Given the description of an element on the screen output the (x, y) to click on. 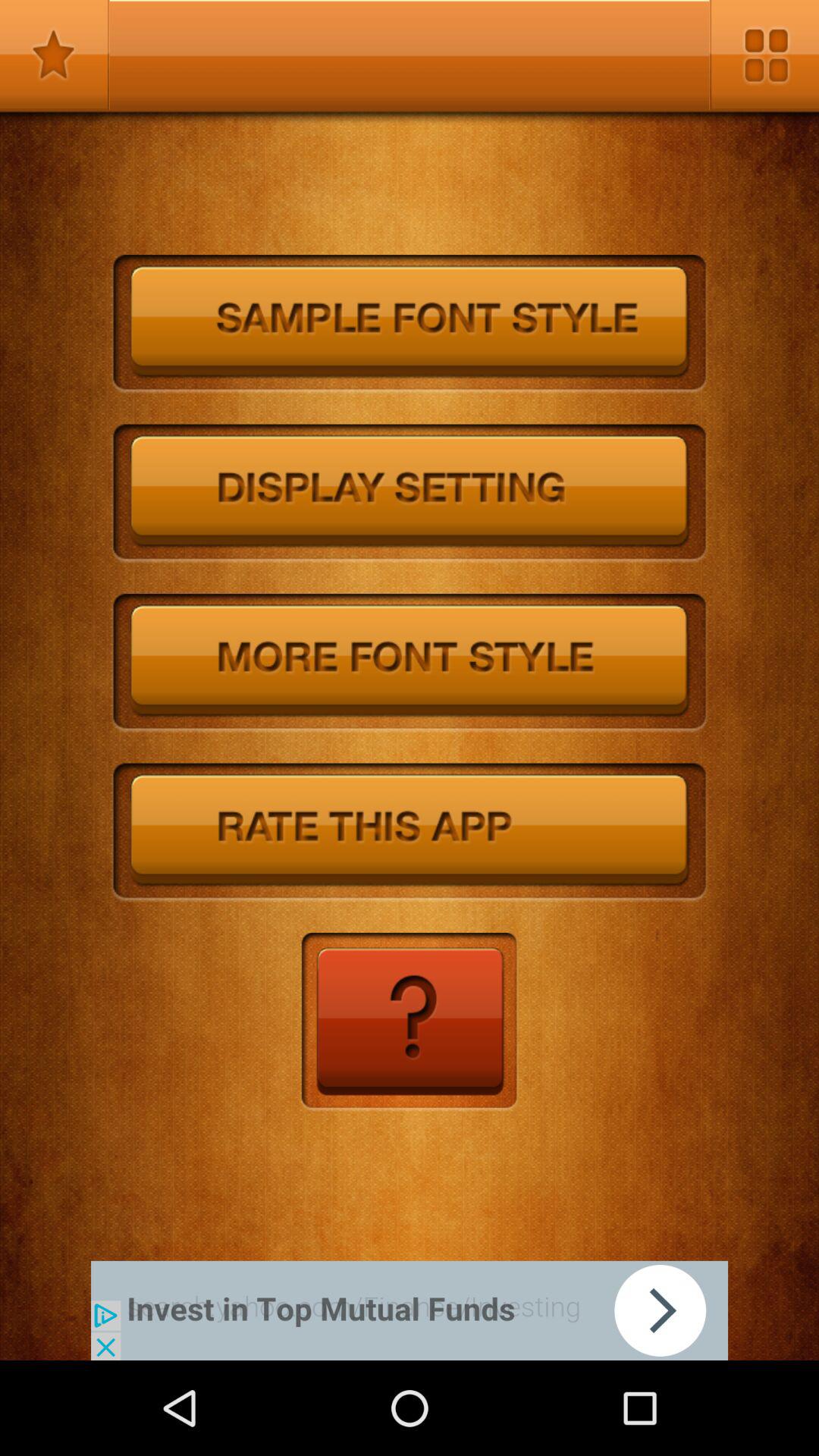
more font style (409, 663)
